Given the description of an element on the screen output the (x, y) to click on. 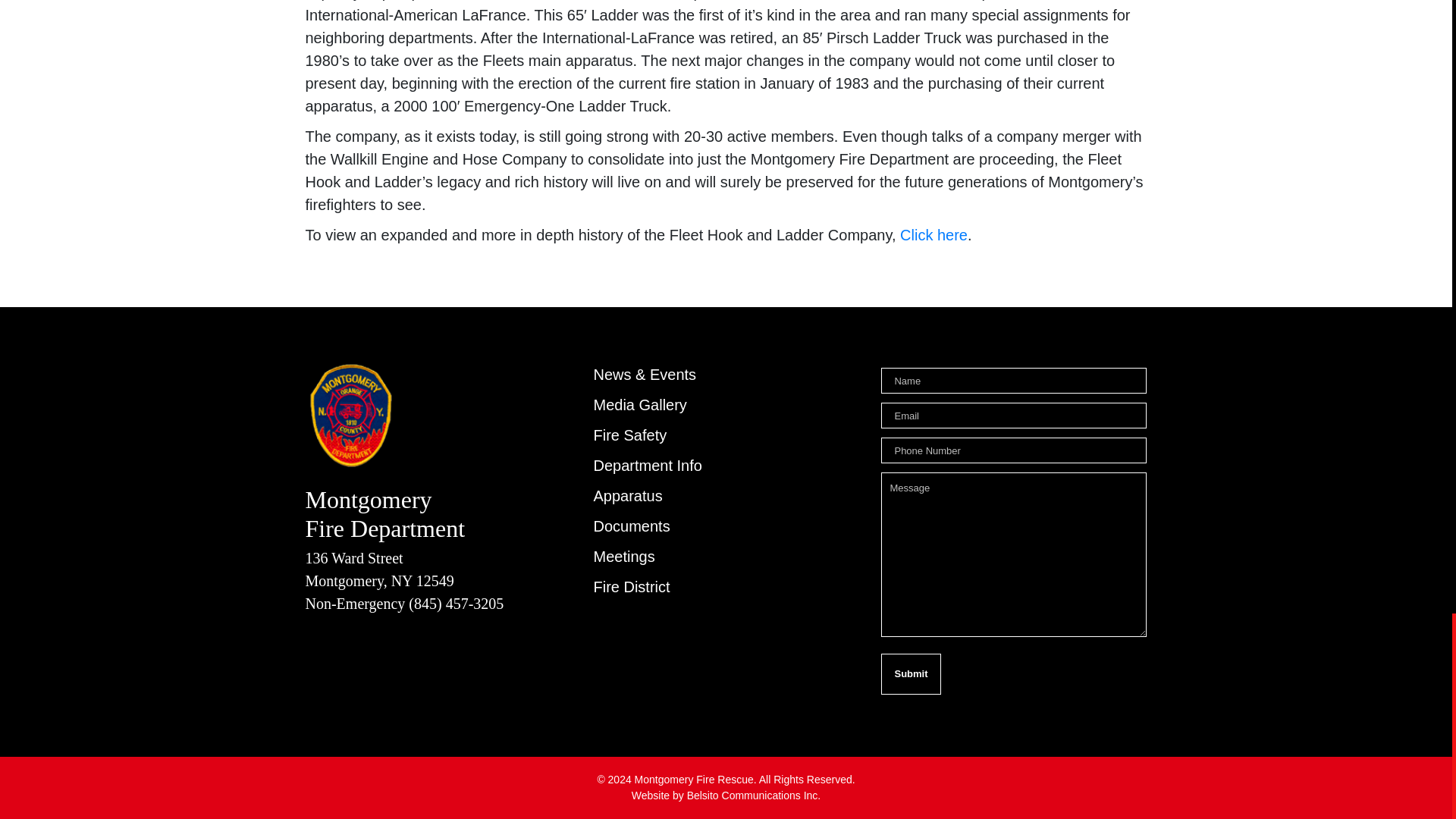
Media Gallery (638, 404)
Apparatus (627, 495)
Documents (630, 525)
Fire District (630, 586)
Meetings (622, 556)
Fire Safety (629, 434)
Submit (910, 673)
Submit (910, 673)
Click here (933, 234)
Department Info (646, 465)
